Given the description of an element on the screen output the (x, y) to click on. 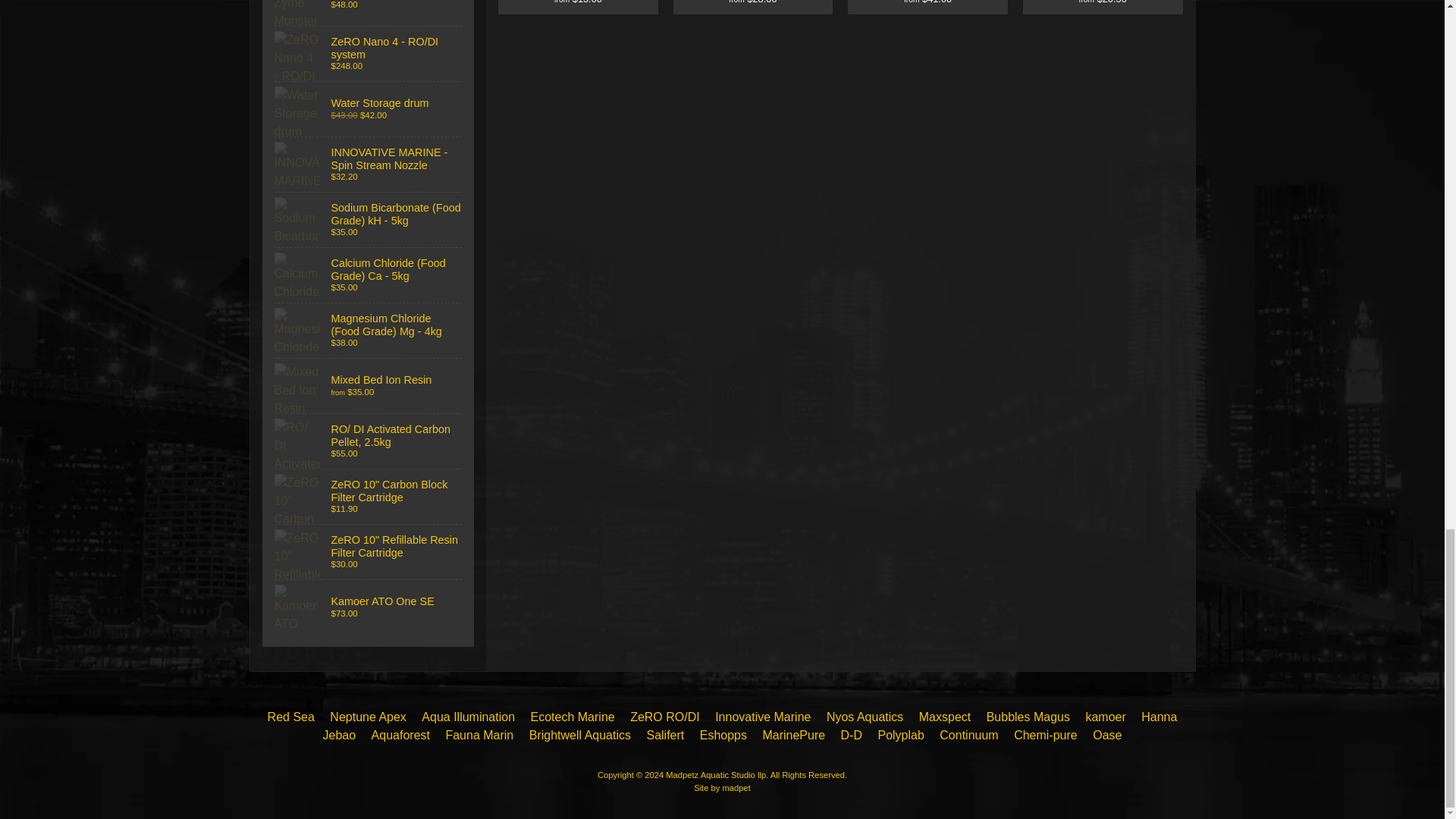
Fritz Zyme Monster 460 (369, 12)
Mixed Bed Ion Resin (369, 385)
Kamoer ATO One SE (369, 606)
INNOVATIVE MARINE - Spin Stream Nozzle (369, 164)
Water Storage drum (369, 108)
ZeRO 10" Refillable Resin Filter Cartridge (369, 551)
ZeRO 10" Carbon Block Filter Cartridge (369, 496)
